Given the description of an element on the screen output the (x, y) to click on. 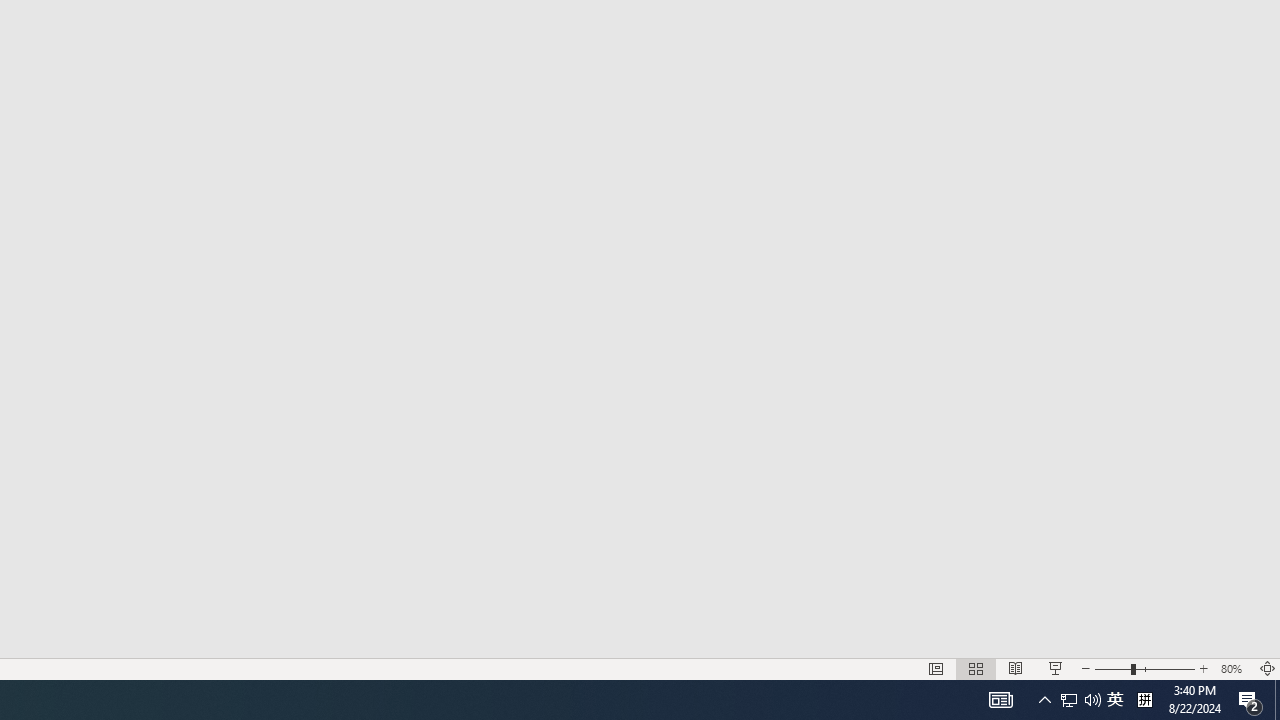
AutomationID: 4105 (1000, 699)
Zoom to Fit  (1267, 668)
Normal (936, 668)
Slide Sorter (975, 668)
Slide Show (1069, 699)
Zoom In (1055, 668)
Zoom (1204, 668)
User Promoted Notification Area (1144, 668)
Q2790: 100% (1080, 699)
Action Center, 2 new notifications (1092, 699)
Zoom Out (1250, 699)
Tray Input Indicator - Chinese (Simplified, China) (1112, 668)
Zoom 80% (1144, 699)
